Given the description of an element on the screen output the (x, y) to click on. 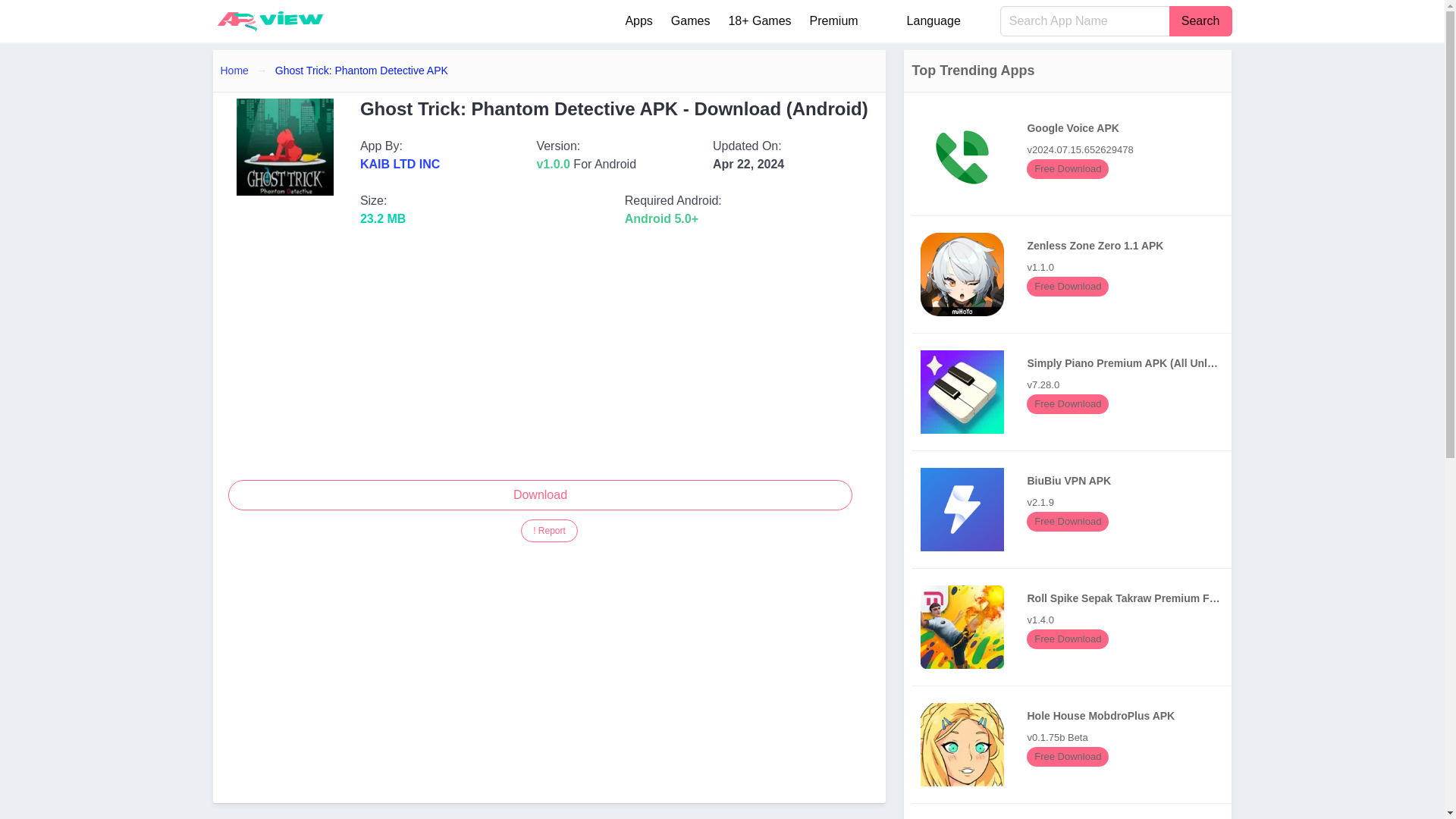
Ghost Trick: Phantom Detective APK (360, 70)
! Report (549, 530)
Google Voice APK (1075, 156)
Hole House MobdroPlus APK (1075, 816)
Search (962, 744)
KAIB LTD INC (1200, 20)
Premium (399, 164)
Report Problem for this APP (833, 20)
Language (549, 530)
